Given the description of an element on the screen output the (x, y) to click on. 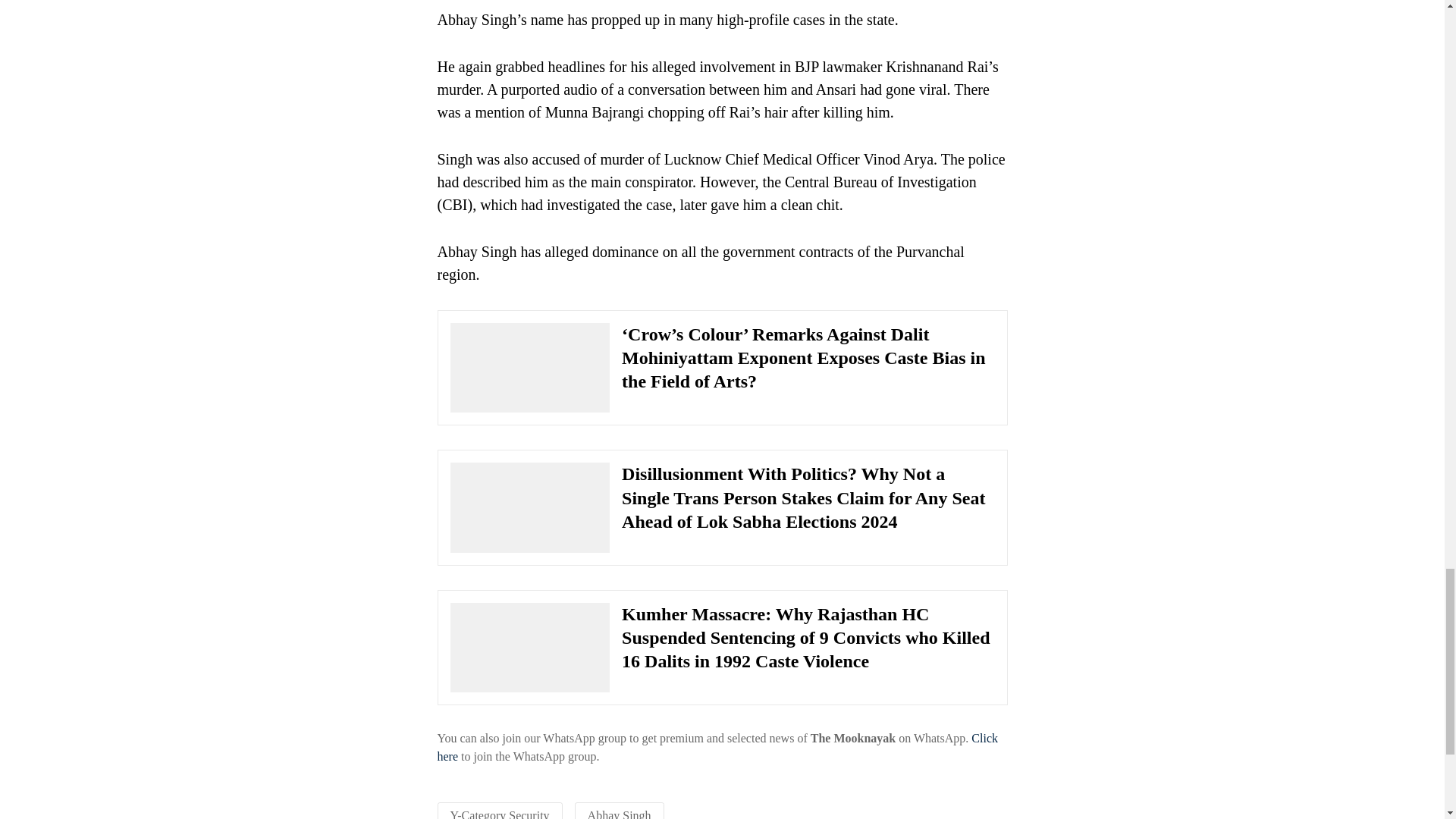
Abhay Singh (619, 814)
Click here (716, 747)
Y-Category Security (499, 814)
